Given the description of an element on the screen output the (x, y) to click on. 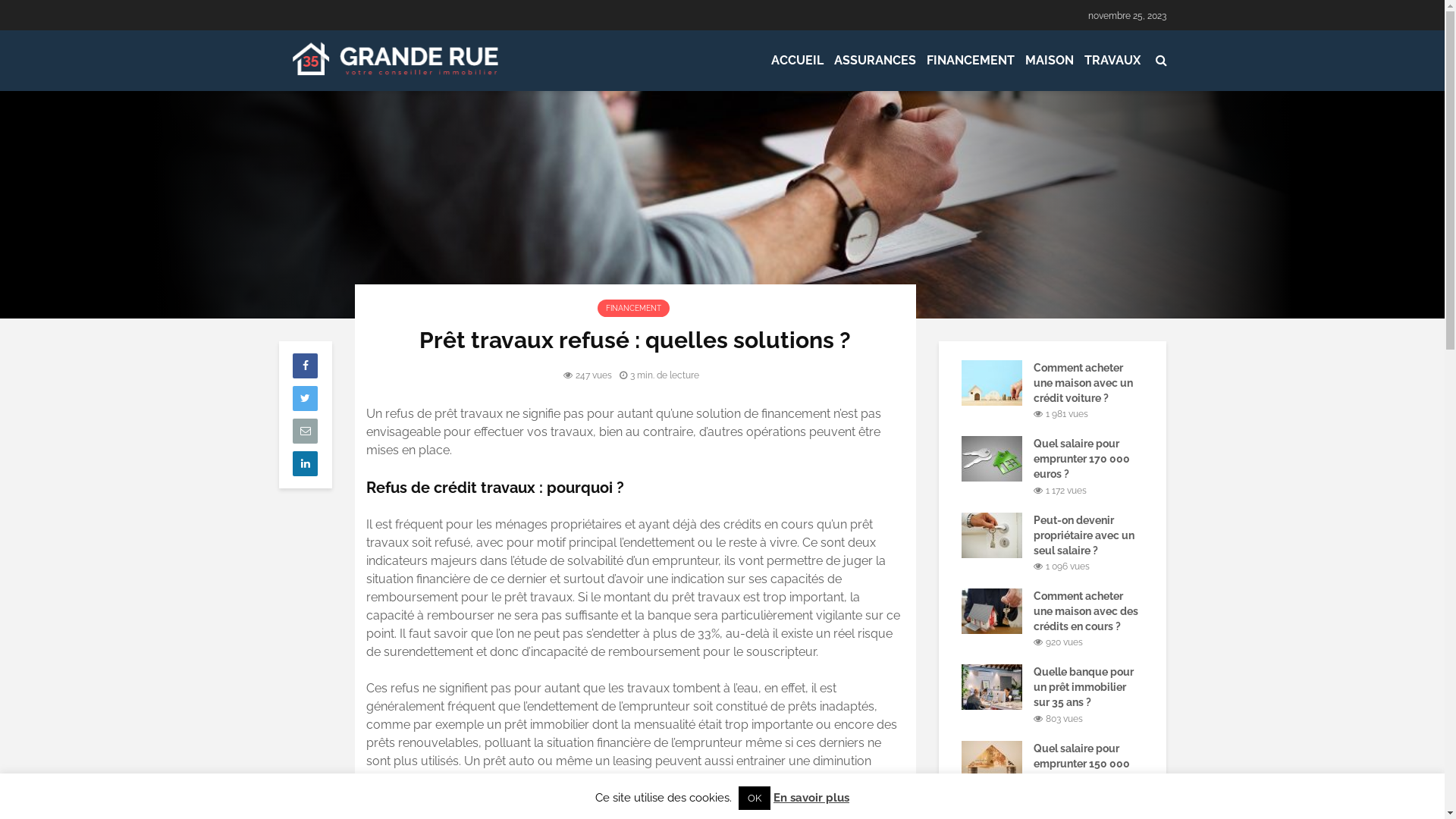
FINANCEMENT Element type: text (633, 307)
TRAVAUX Element type: text (1111, 60)
OK Element type: text (754, 797)
FINANCEMENT Element type: text (969, 60)
ASSURANCES Element type: text (874, 60)
Quel salaire pour emprunter 150 000 euros ? Element type: text (1080, 763)
MAISON Element type: text (1048, 60)
Quel salaire pour emprunter 150 000 euros ? Element type: hover (991, 762)
Quel salaire pour emprunter 170 000 euros ? Element type: hover (991, 457)
En savoir plus Element type: text (811, 797)
Quel salaire pour emprunter 170 000 euros ? Element type: text (1080, 458)
ACCUEIL Element type: text (797, 60)
